Given the description of an element on the screen output the (x, y) to click on. 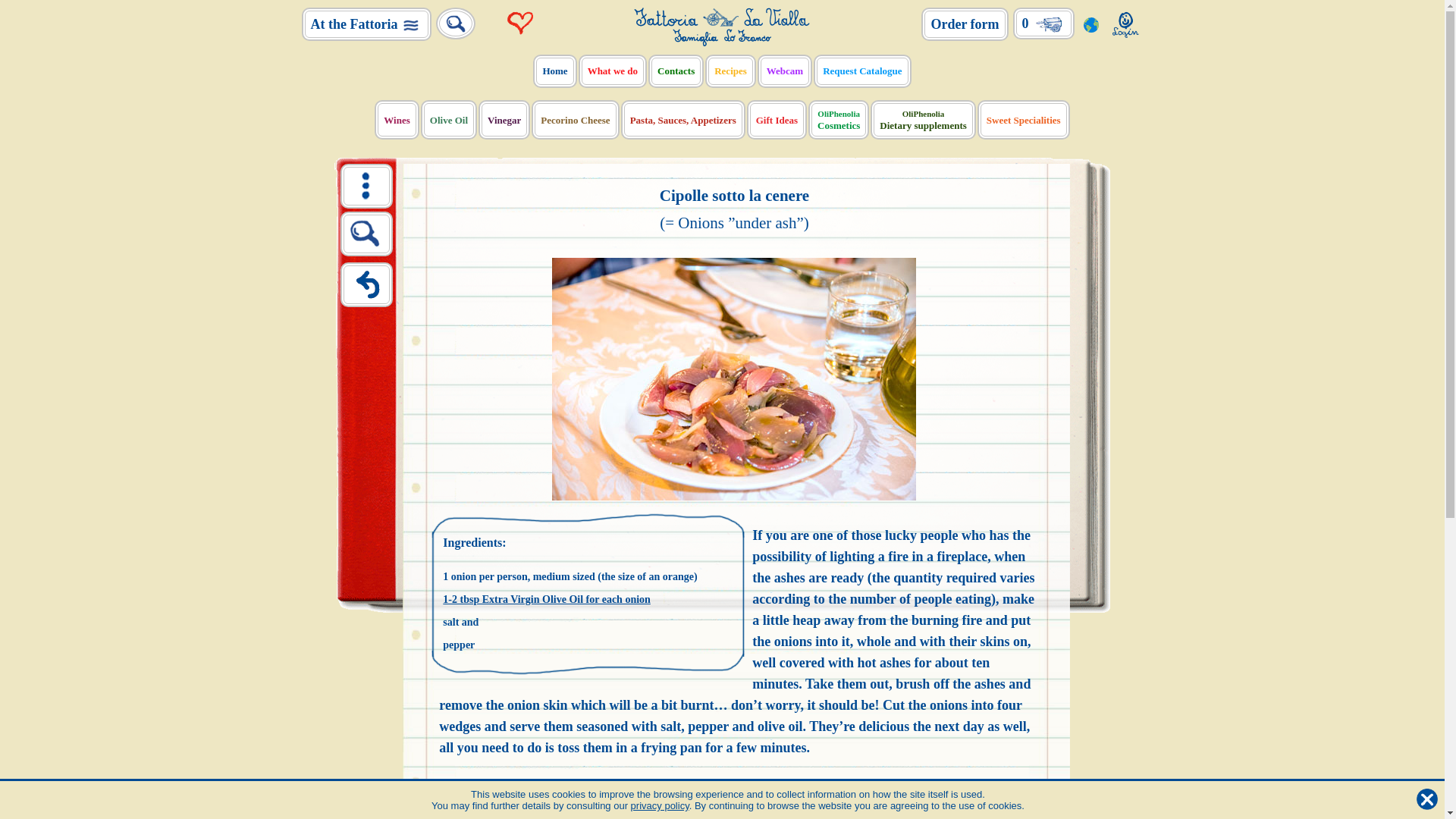
At the Fattoria (366, 23)
0 (1043, 23)
Search (455, 23)
Wishlist (520, 22)
Select Country (1091, 23)
